Given the description of an element on the screen output the (x, y) to click on. 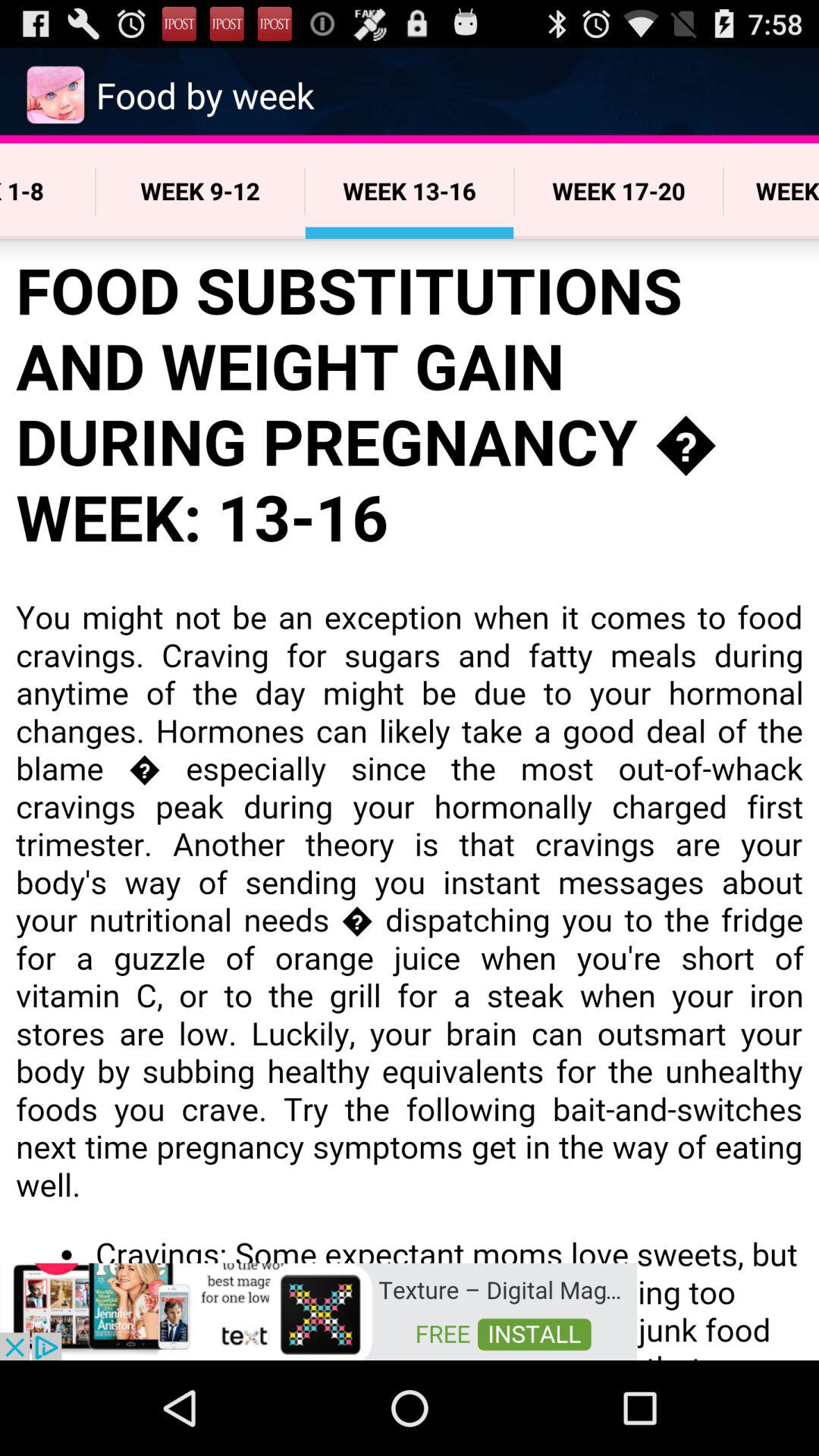
open advertisement (318, 1310)
